Given the description of an element on the screen output the (x, y) to click on. 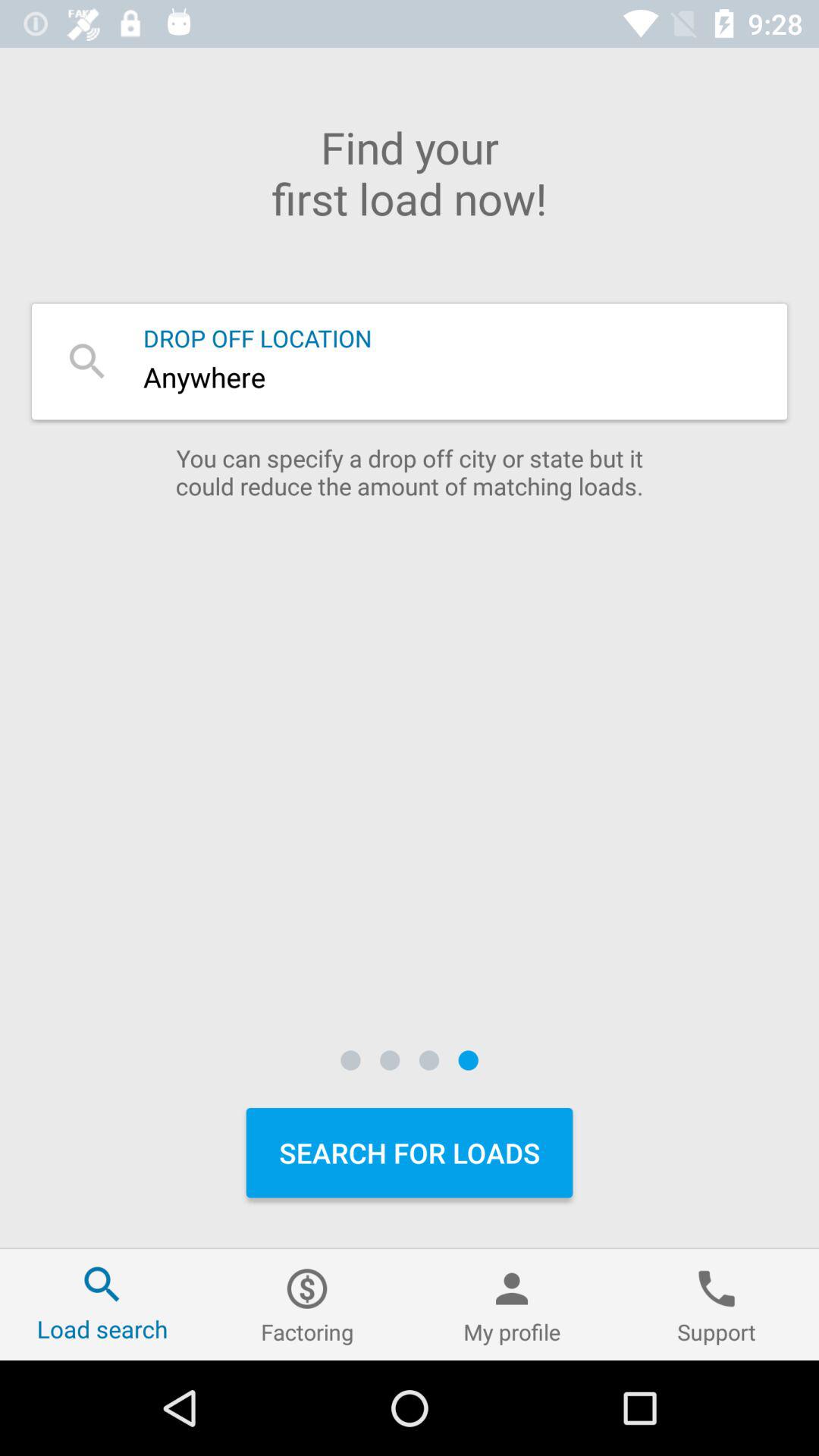
choose icon next to support icon (511, 1304)
